Given the description of an element on the screen output the (x, y) to click on. 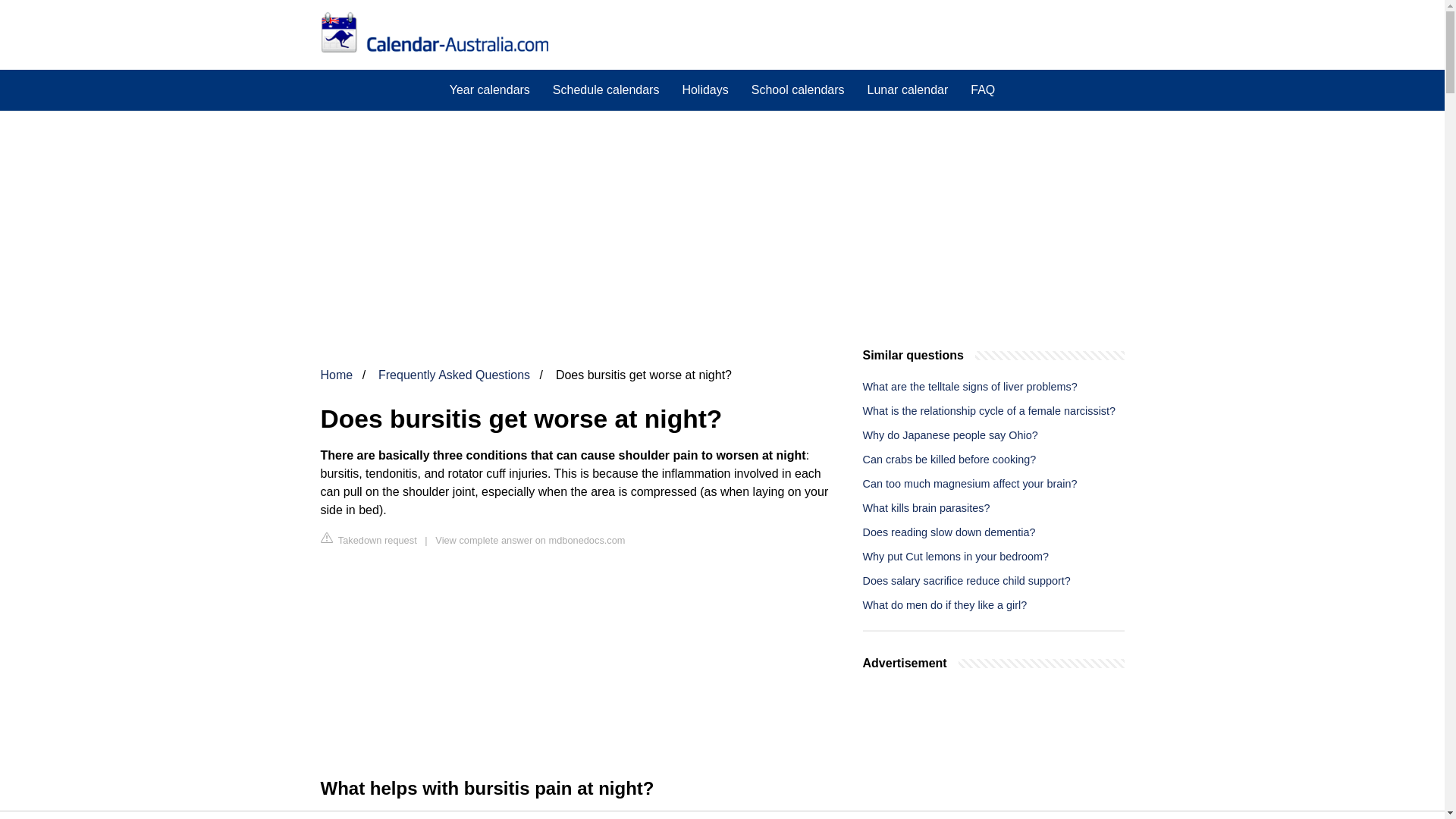
Home (336, 374)
Year calendars (489, 89)
FAQ (982, 89)
School calendars (797, 89)
Schedule calendars (606, 89)
View complete answer on mdbonedocs.com (529, 540)
Lunar calendar (907, 89)
Takedown request (368, 539)
Frequently Asked Questions (453, 374)
Holidays (704, 89)
